Given the description of an element on the screen output the (x, y) to click on. 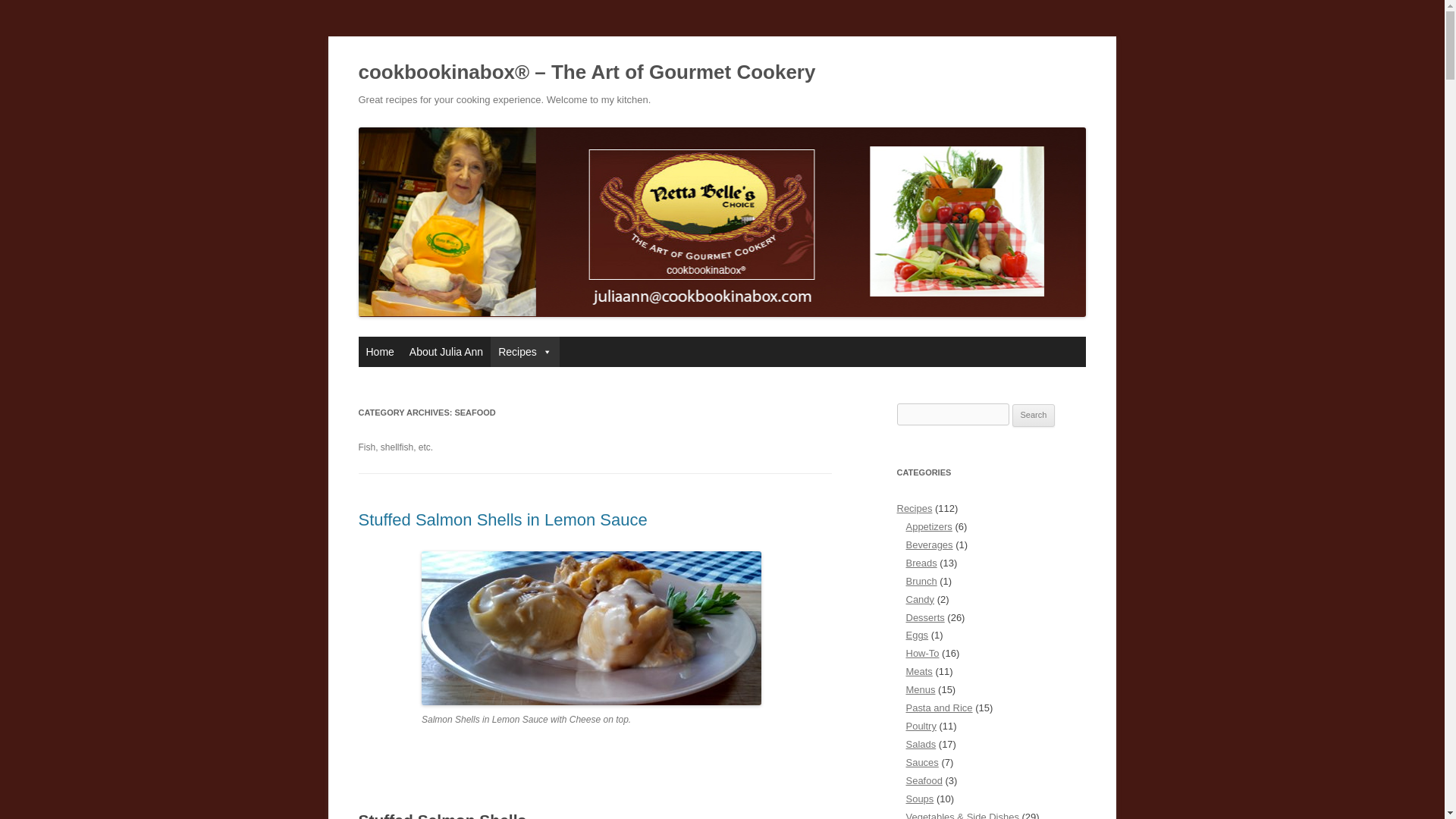
Search (1033, 415)
Home (379, 351)
Stuffed Salmon Shells in Lemon Sauce (502, 519)
Recipes (524, 351)
About Julia Ann (445, 351)
